Given the description of an element on the screen output the (x, y) to click on. 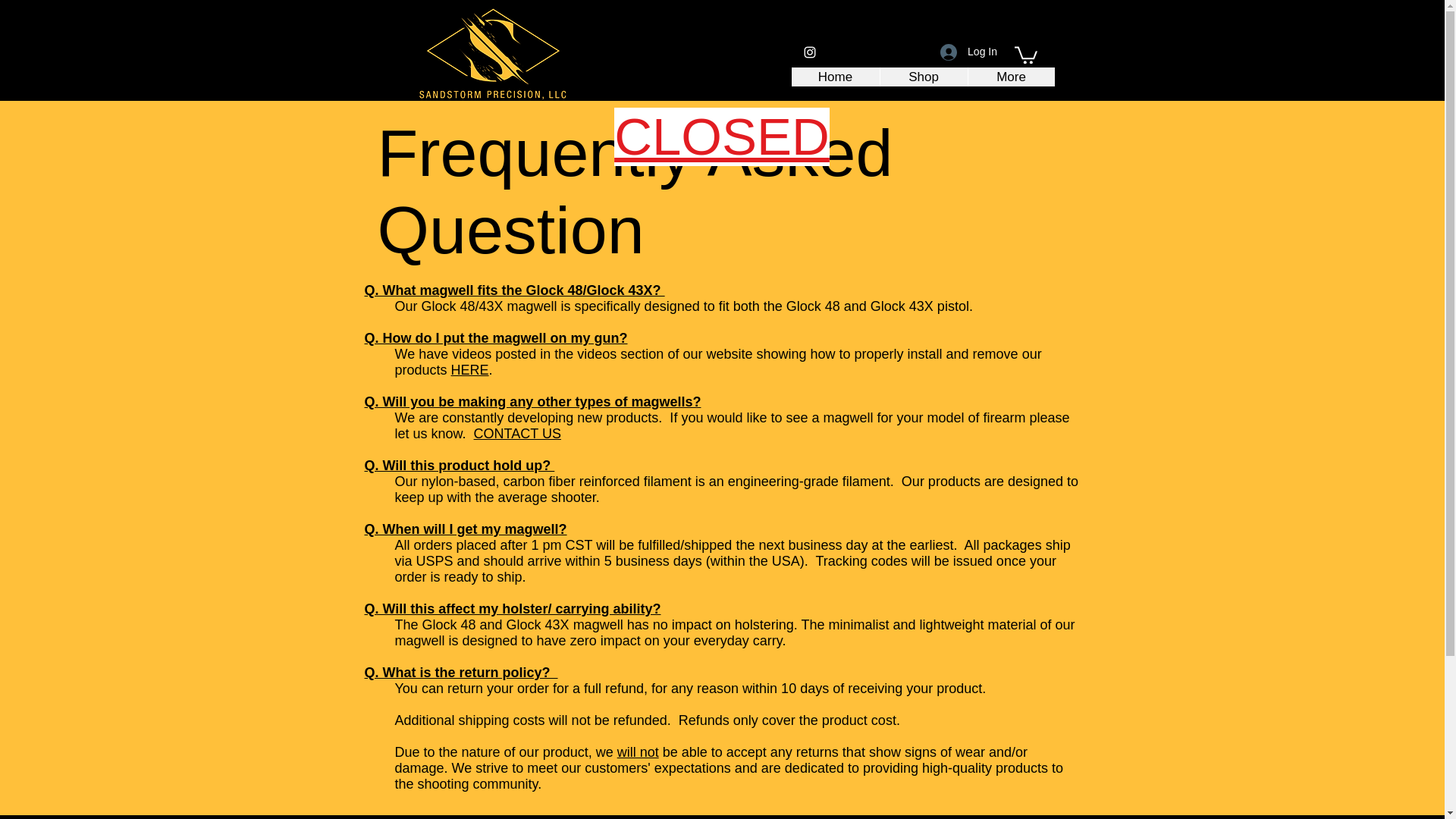
Log In (968, 51)
Shop (923, 76)
HERE (470, 369)
Home (835, 76)
CONTACT US (517, 433)
